Given the description of an element on the screen output the (x, y) to click on. 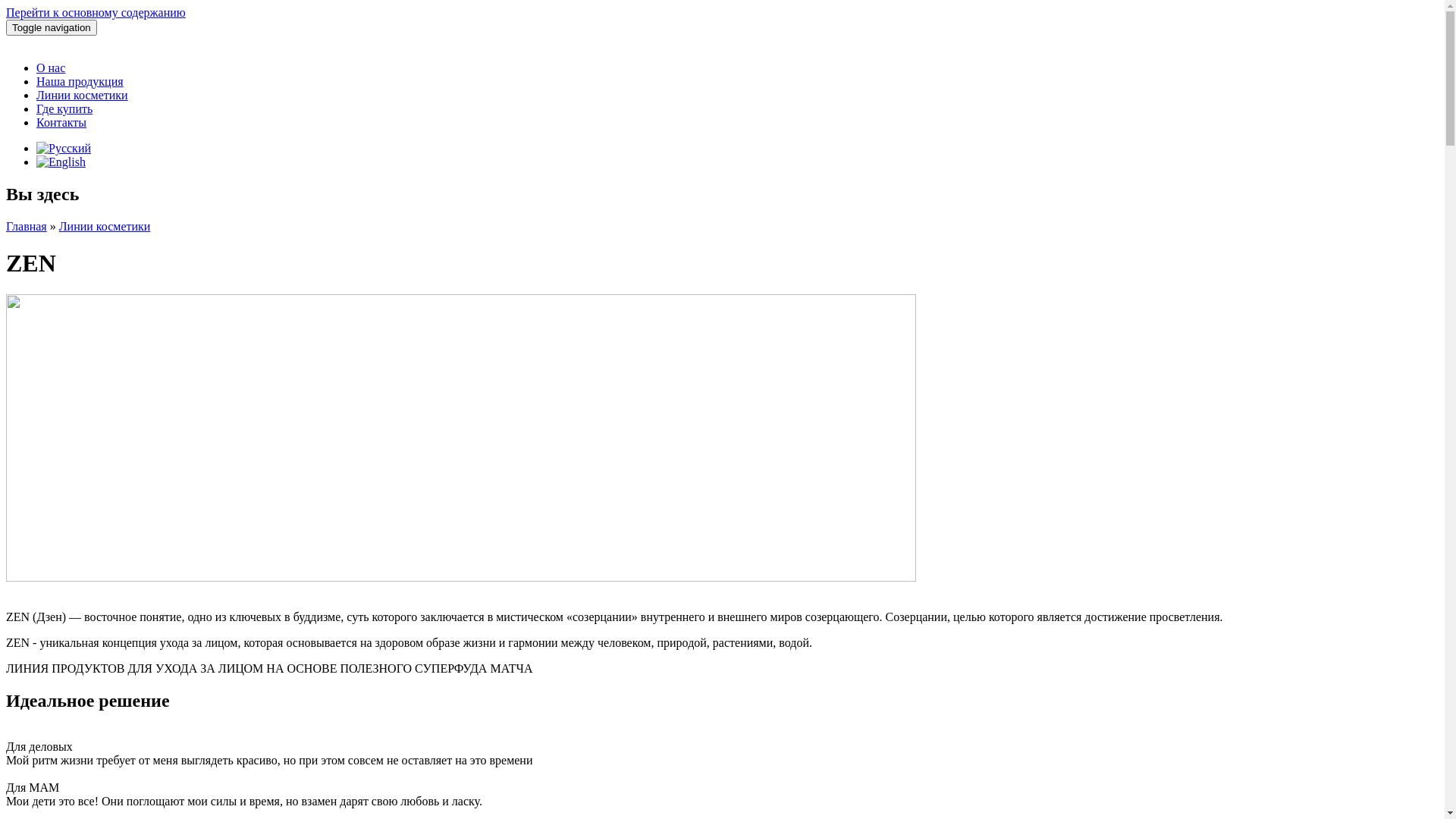
Toggle navigation Element type: text (51, 27)
ZEN Element type: hover (63, 147)
ZEN Element type: hover (60, 161)
English Element type: hover (60, 162)
